Given the description of an element on the screen output the (x, y) to click on. 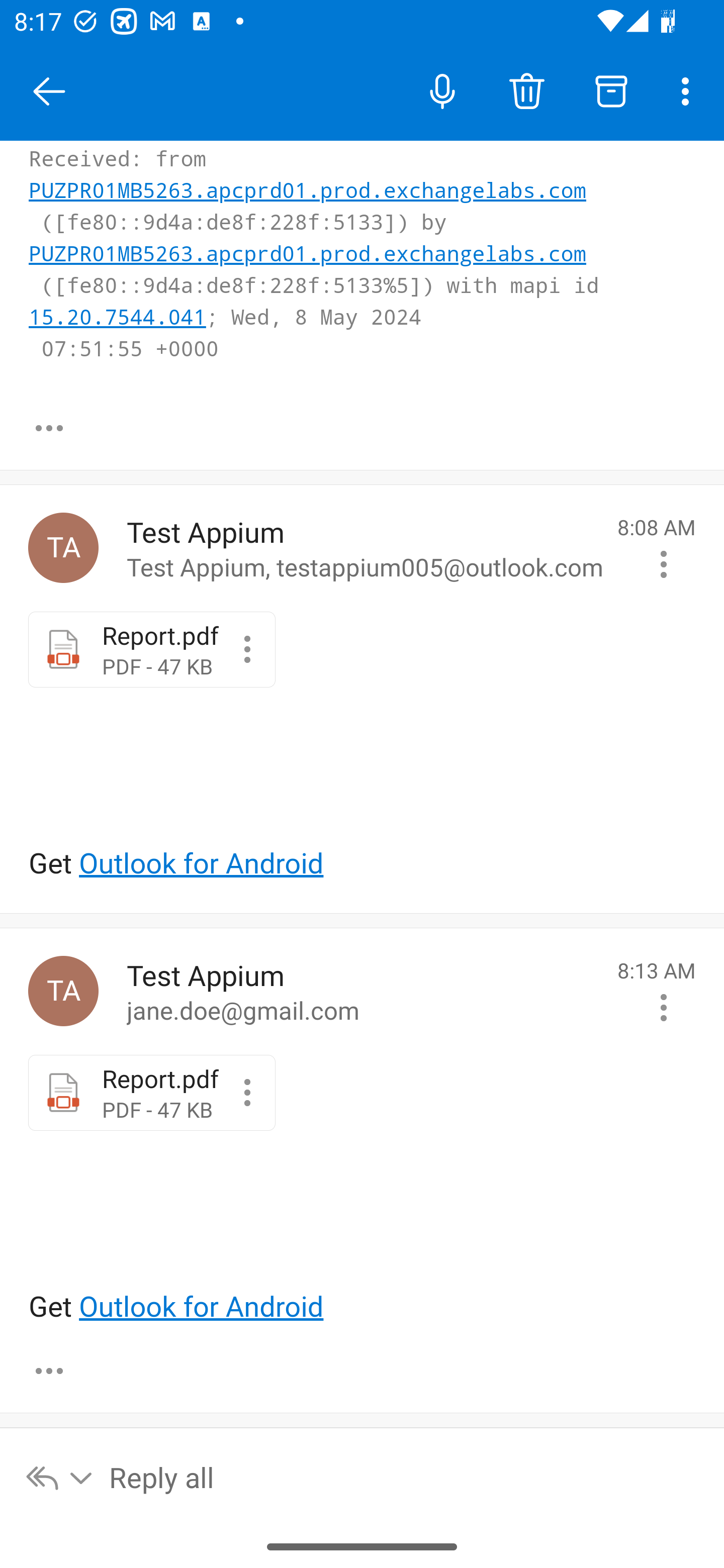
Close (49, 91)
Delete (526, 90)
Archive (611, 90)
More options (688, 90)
PUZPR01MB5263.apcprd01.prod.exchangelabs.com (307, 158)
Open full message (49, 427)
Test Appium, testappium002@outlook.com (63, 547)
Message actions (663, 563)
Report.pdf (246, 649)
Outlook for Android (201, 863)
Test Appium, testappium002@outlook.com (63, 990)
Test Appium
to jane.doe@gmail.com (364, 991)
Message actions (663, 1007)
Report.pdf (246, 1091)
Outlook for Android (201, 1306)
Open full message (49, 1370)
Reply options (59, 1476)
